Given the description of an element on the screen output the (x, y) to click on. 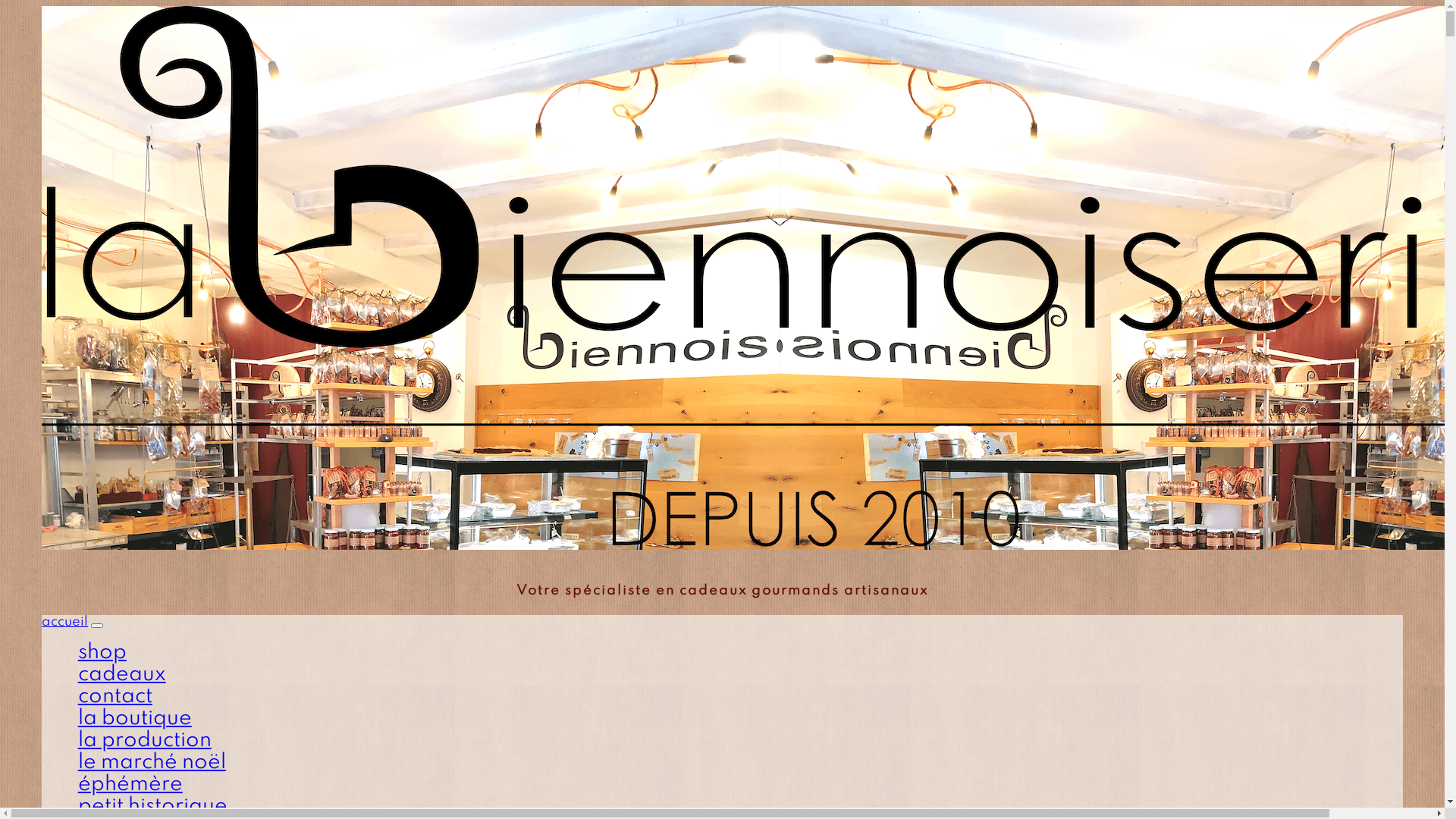
shop Element type: text (102, 652)
petit historique Element type: text (152, 806)
contact Element type: text (115, 696)
accueil Element type: text (64, 621)
la boutique Element type: text (134, 718)
la production Element type: text (144, 740)
cadeaux Element type: text (122, 674)
